Given the description of an element on the screen output the (x, y) to click on. 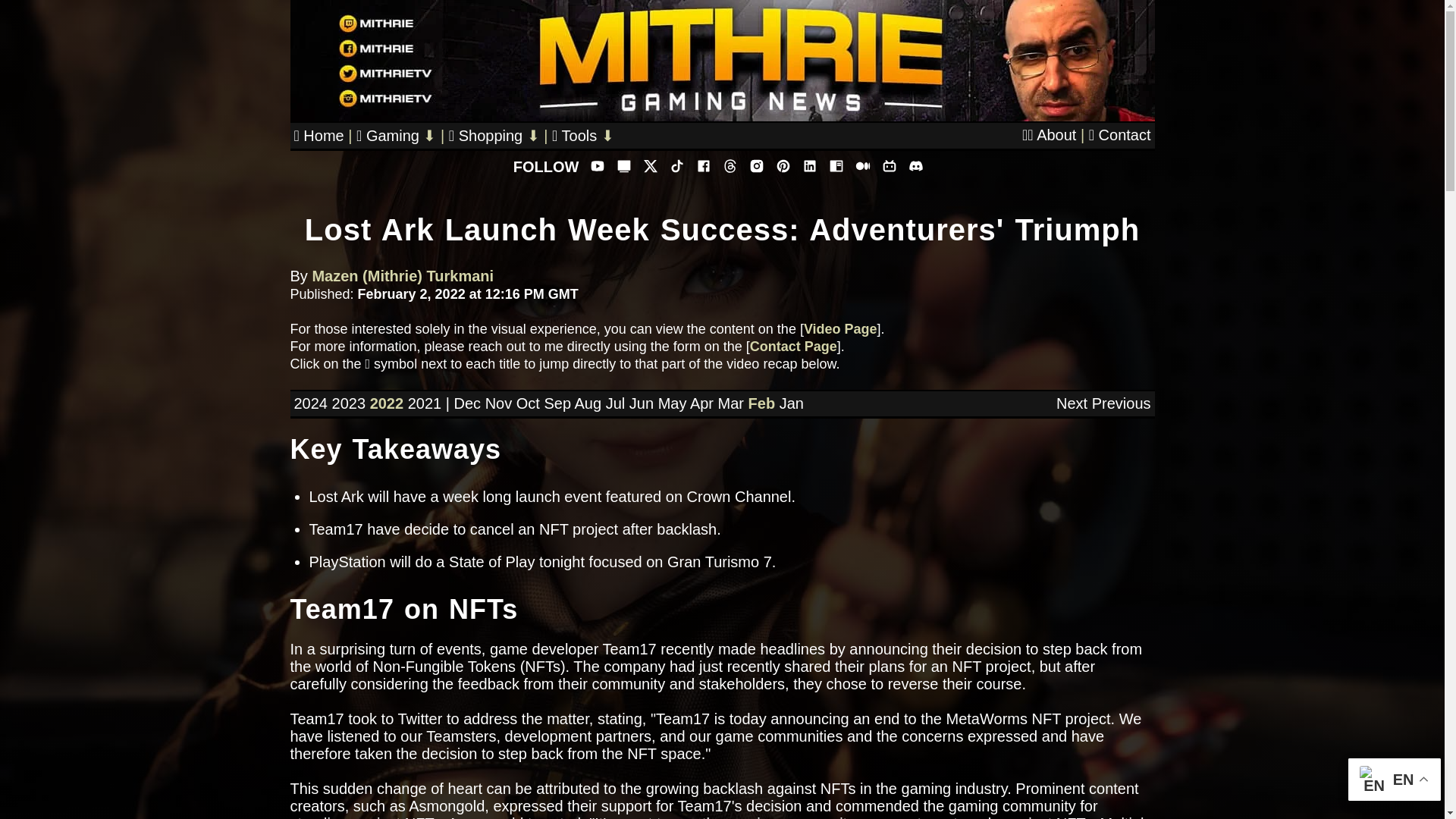
Contact Page (793, 346)
Video Page (840, 328)
Dec (466, 402)
2024 (311, 402)
2023 (348, 402)
2021 (424, 402)
